Given the description of an element on the screen output the (x, y) to click on. 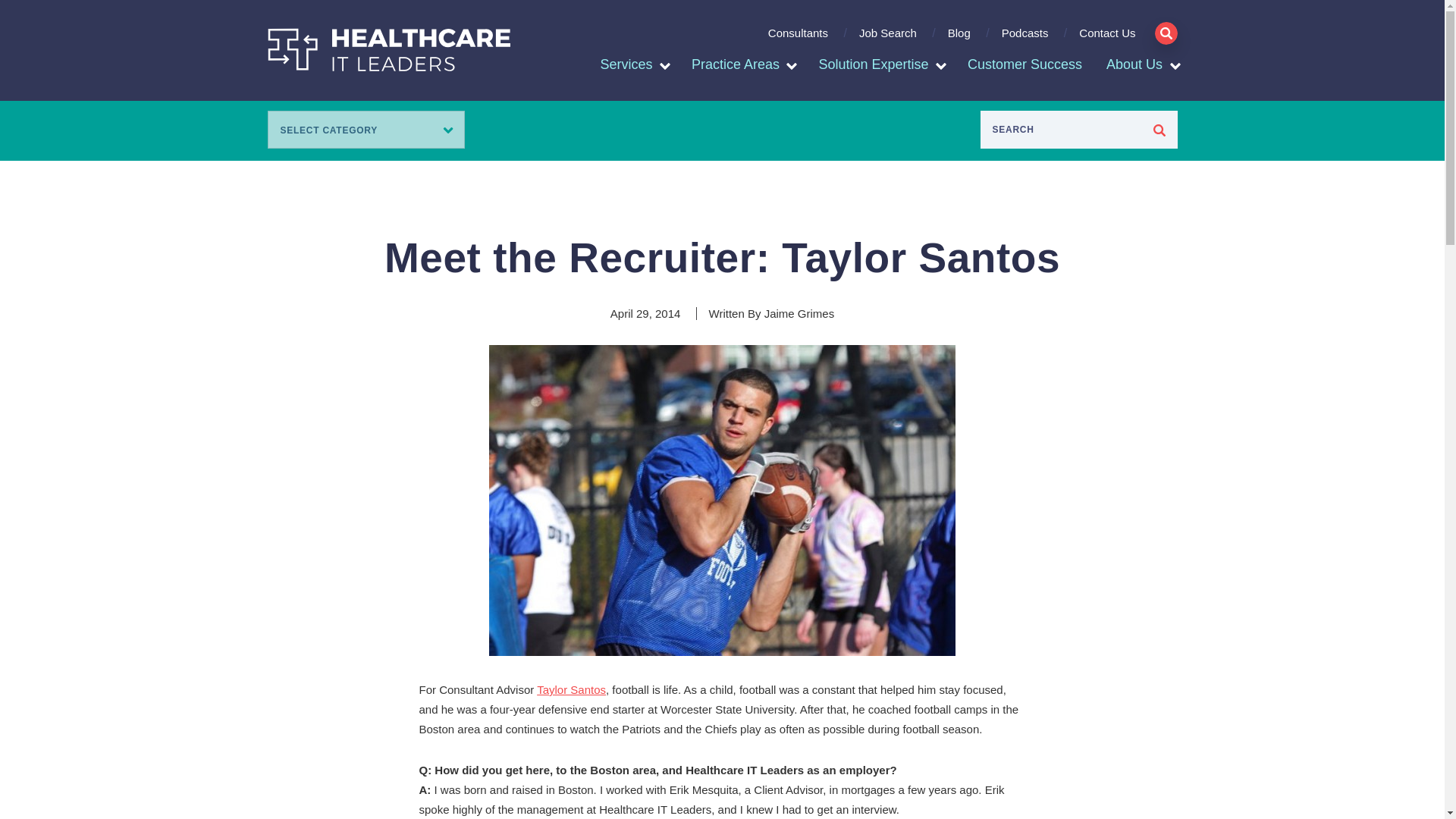
Consultants (797, 39)
Contact Us (1101, 39)
Podcasts (1025, 39)
Solution Expertise (873, 65)
Services (625, 65)
Practice Areas (734, 65)
Open Search (1165, 33)
Healthcare IT Leaders (387, 49)
Blog (959, 39)
Job Search (887, 39)
